Given the description of an element on the screen output the (x, y) to click on. 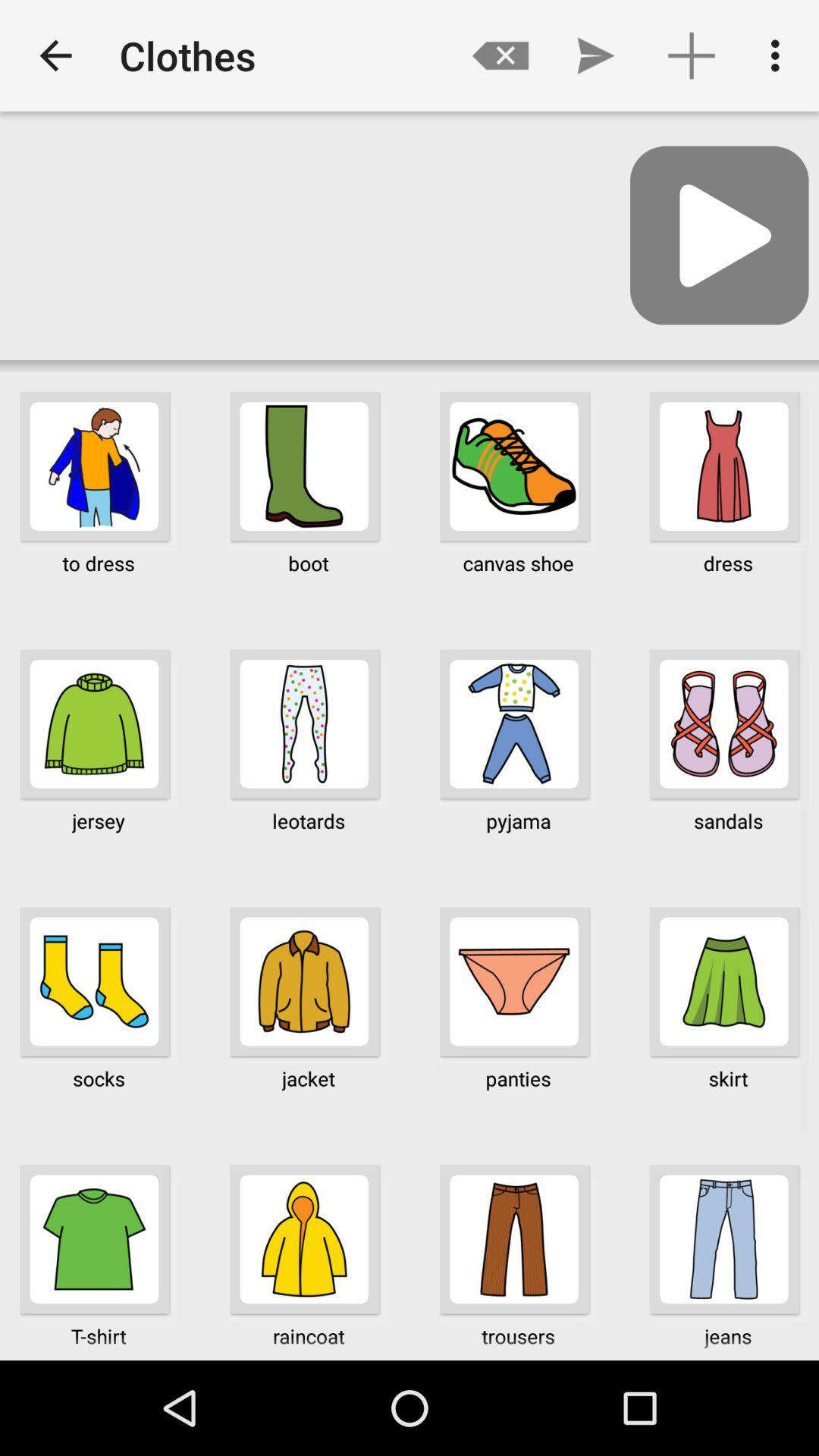
turn off app next to clothes (55, 55)
